Given the description of an element on the screen output the (x, y) to click on. 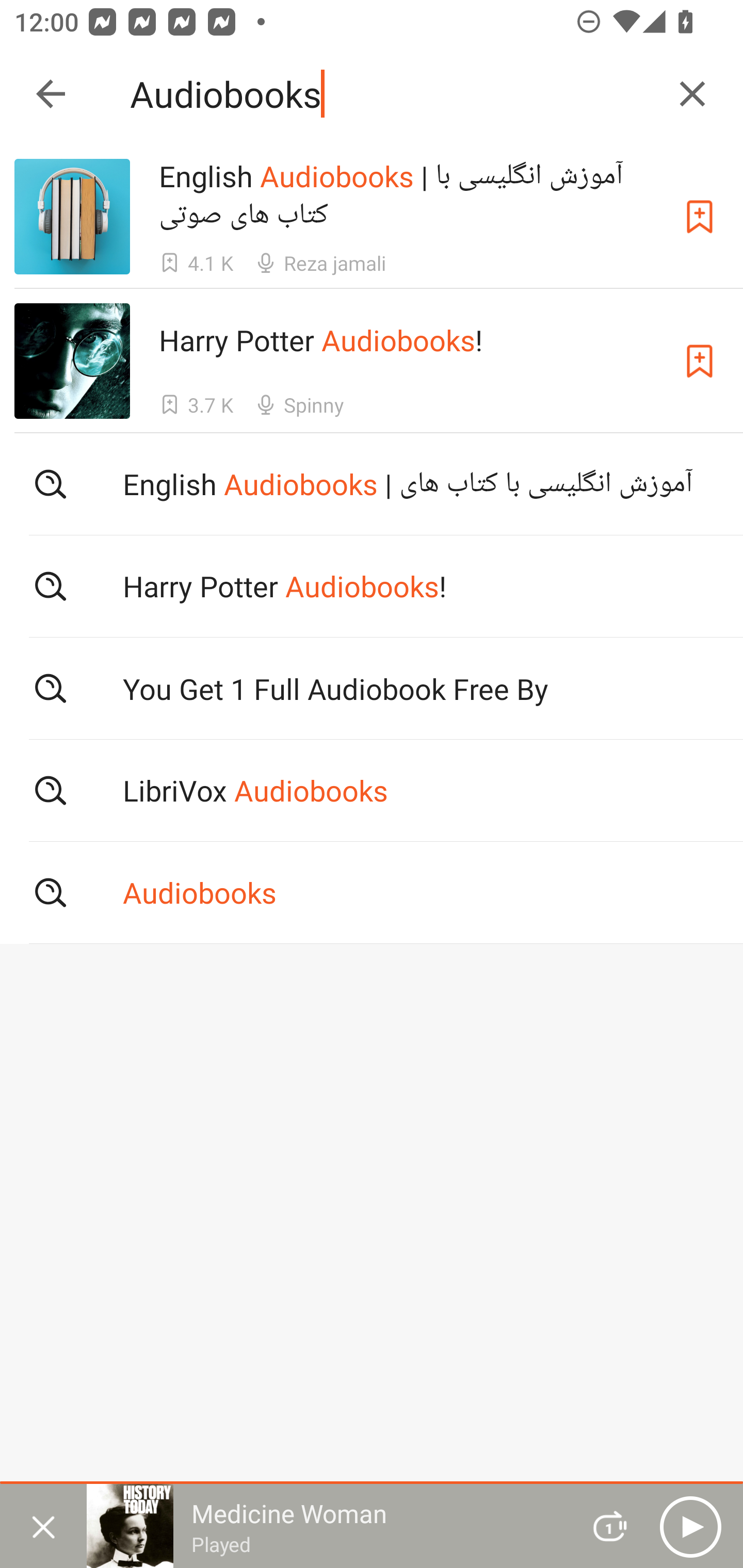
Collapse (50, 93)
Clear query (692, 93)
Audiobooks (393, 94)
Subscribe (699, 216)
Subscribe (699, 360)
 Harry Potter Audiobooks! (371, 585)
 LibriVox Audiobooks (371, 791)
 Audiobooks (371, 892)
Medicine Woman Played (326, 1525)
Play (690, 1526)
